Given the description of an element on the screen output the (x, y) to click on. 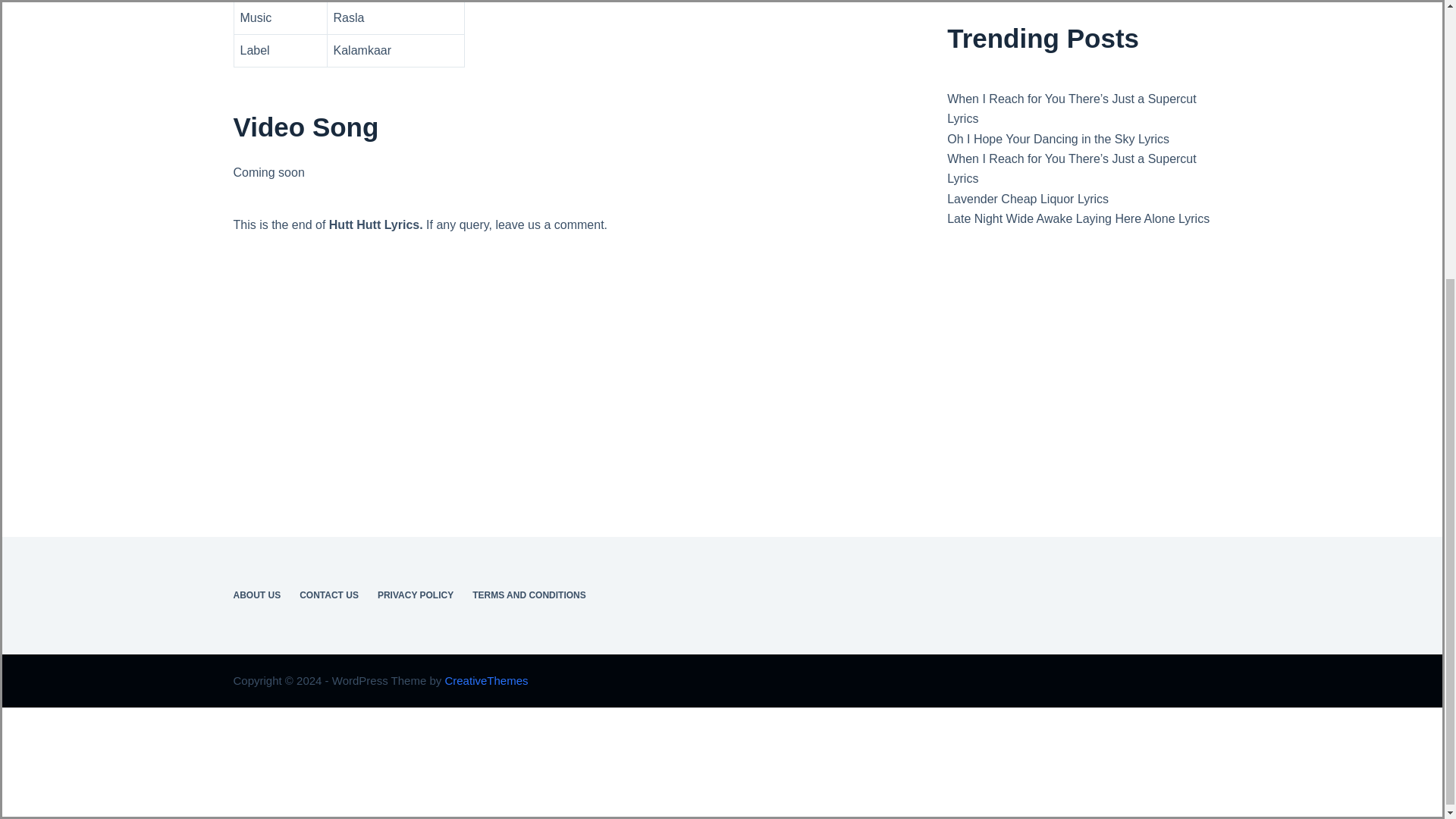
CreativeThemes (485, 680)
TERMS AND CONDITIONS (529, 595)
PRIVACY POLICY (415, 595)
CONTACT US (328, 595)
Advertisement (701, 95)
Advertisement (1079, 121)
ABOUT US (256, 595)
